Given the description of an element on the screen output the (x, y) to click on. 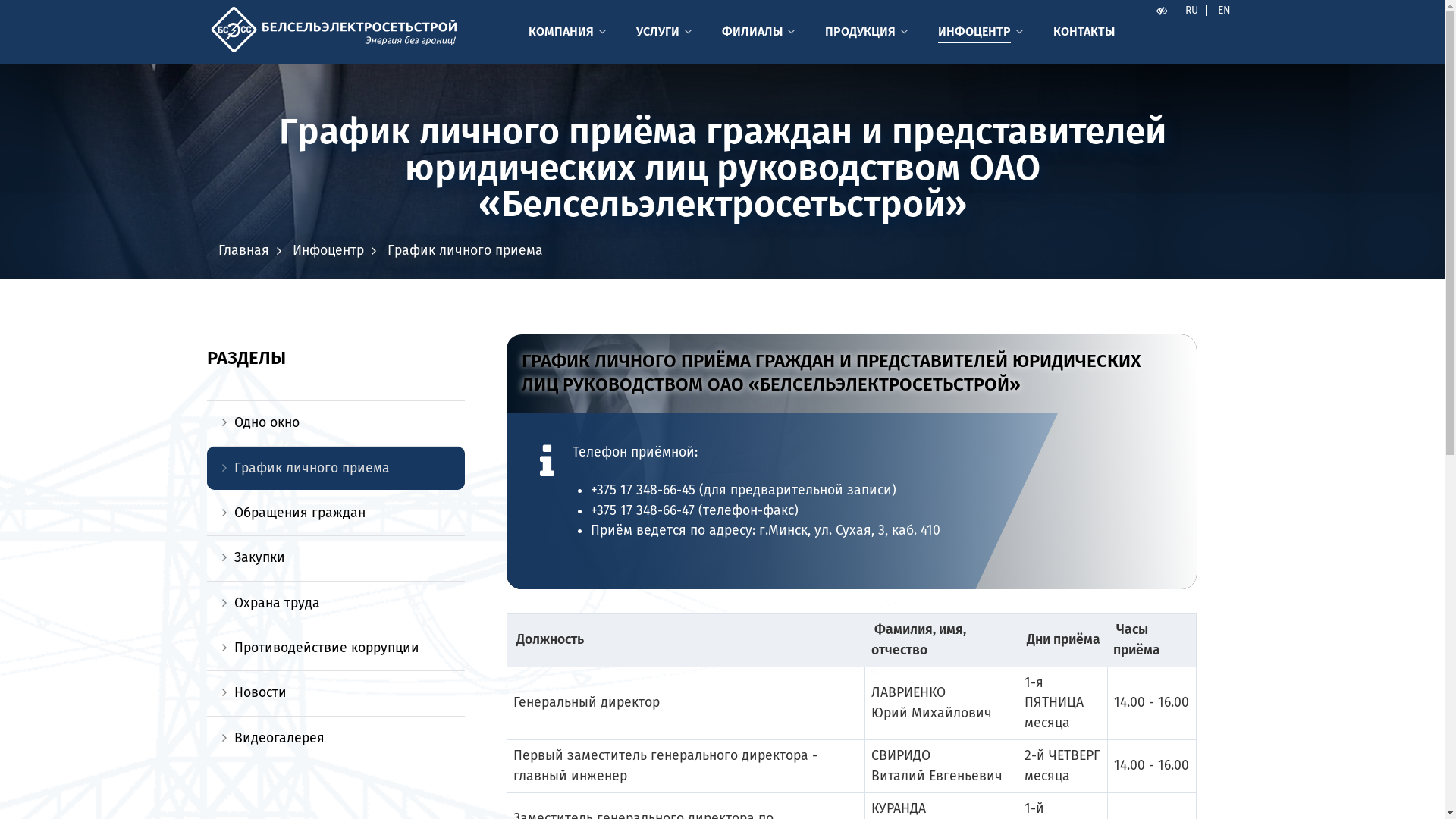
RU Element type: text (1191, 10)
EN Element type: text (1224, 10)
  Element type: text (1162, 10)
